Given the description of an element on the screen output the (x, y) to click on. 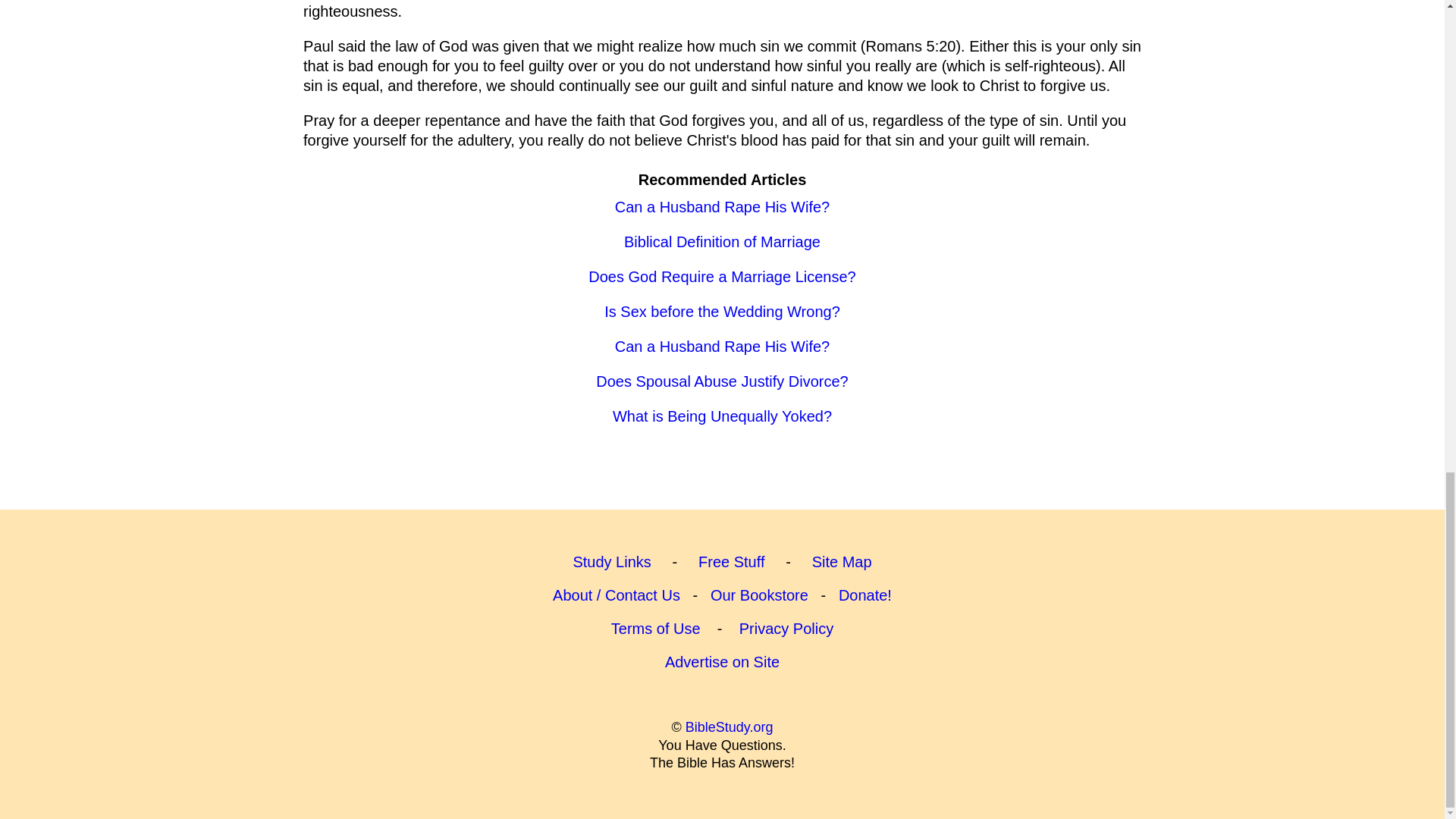
Does God Require a Marriage License? (722, 276)
Can a Husband Rape His Wife? (721, 207)
Does Spousal Abuse Justify Divorce? (721, 381)
Terms of Use (655, 628)
Study Links (611, 561)
Advertise on Site (721, 661)
Privacy Policy (785, 628)
Is Sex before the Wedding Wrong? (722, 311)
Donate! (864, 595)
BibleStudy.org (729, 726)
What is Being Unequally Yoked? (721, 416)
Biblical Definition of Marriage (722, 241)
Our Bookstore (759, 595)
Free Stuff (731, 561)
Can a Husband Rape His Wife? (721, 346)
